Given the description of an element on the screen output the (x, y) to click on. 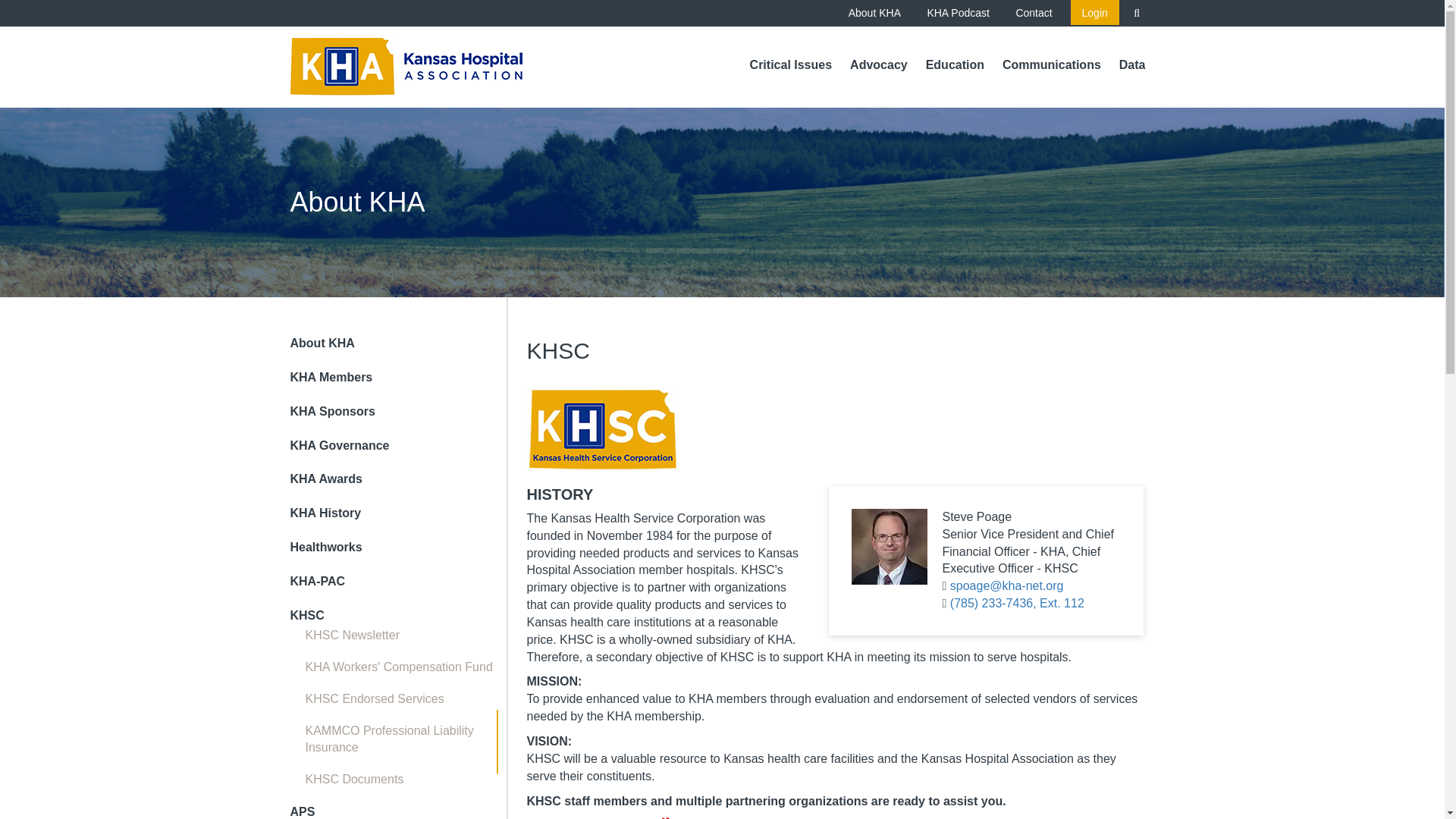
KHA Podcast (958, 12)
Contact (1033, 12)
About KHA (874, 12)
Login (1094, 12)
